Given the description of an element on the screen output the (x, y) to click on. 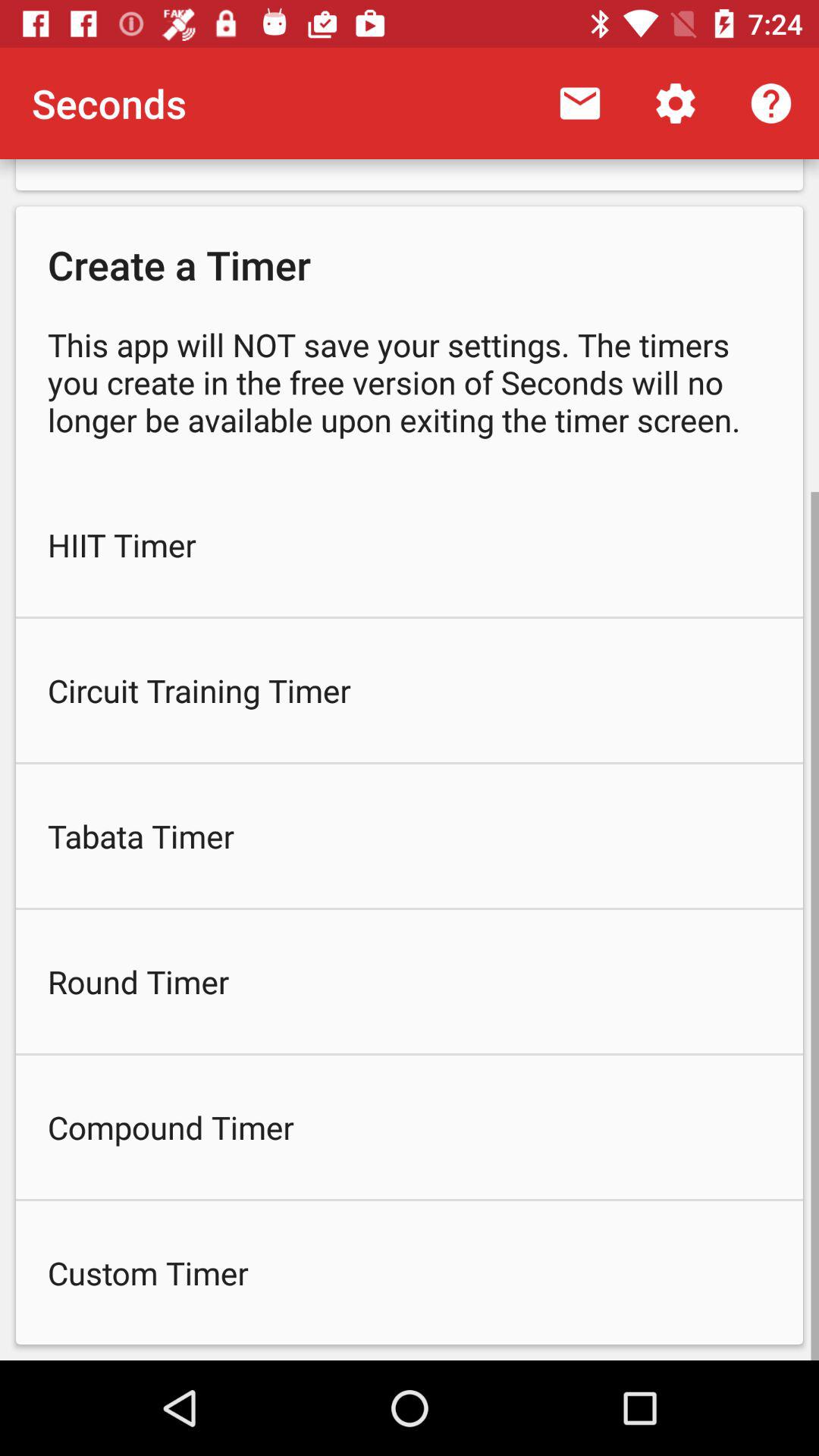
flip until round timer (409, 981)
